Given the description of an element on the screen output the (x, y) to click on. 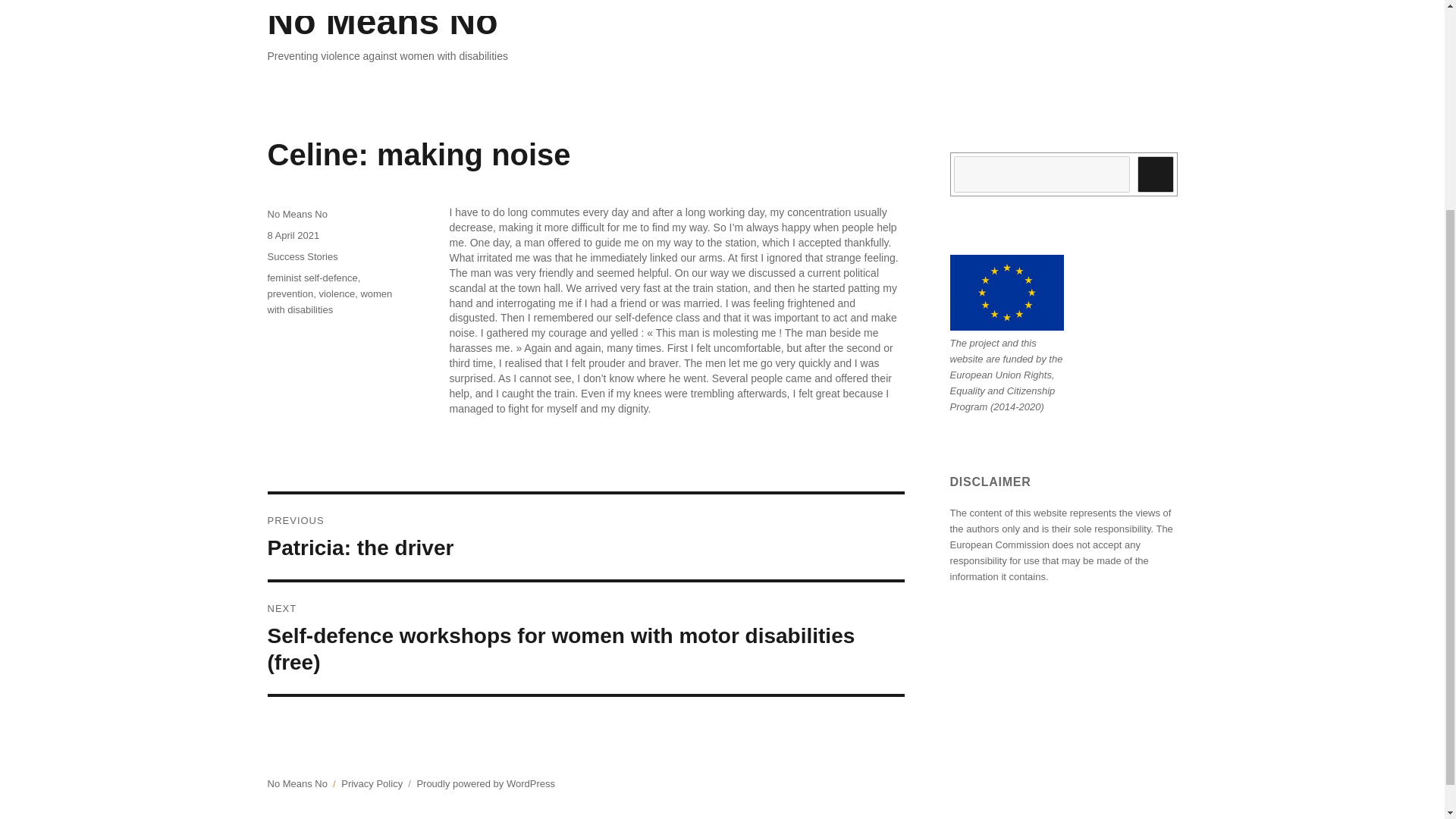
No Means No (585, 536)
violence (381, 21)
feminist self-defence (336, 293)
Success Stories (311, 277)
women with disabilities (301, 256)
No Means No (328, 301)
8 April 2021 (296, 214)
prevention (292, 235)
